Given the description of an element on the screen output the (x, y) to click on. 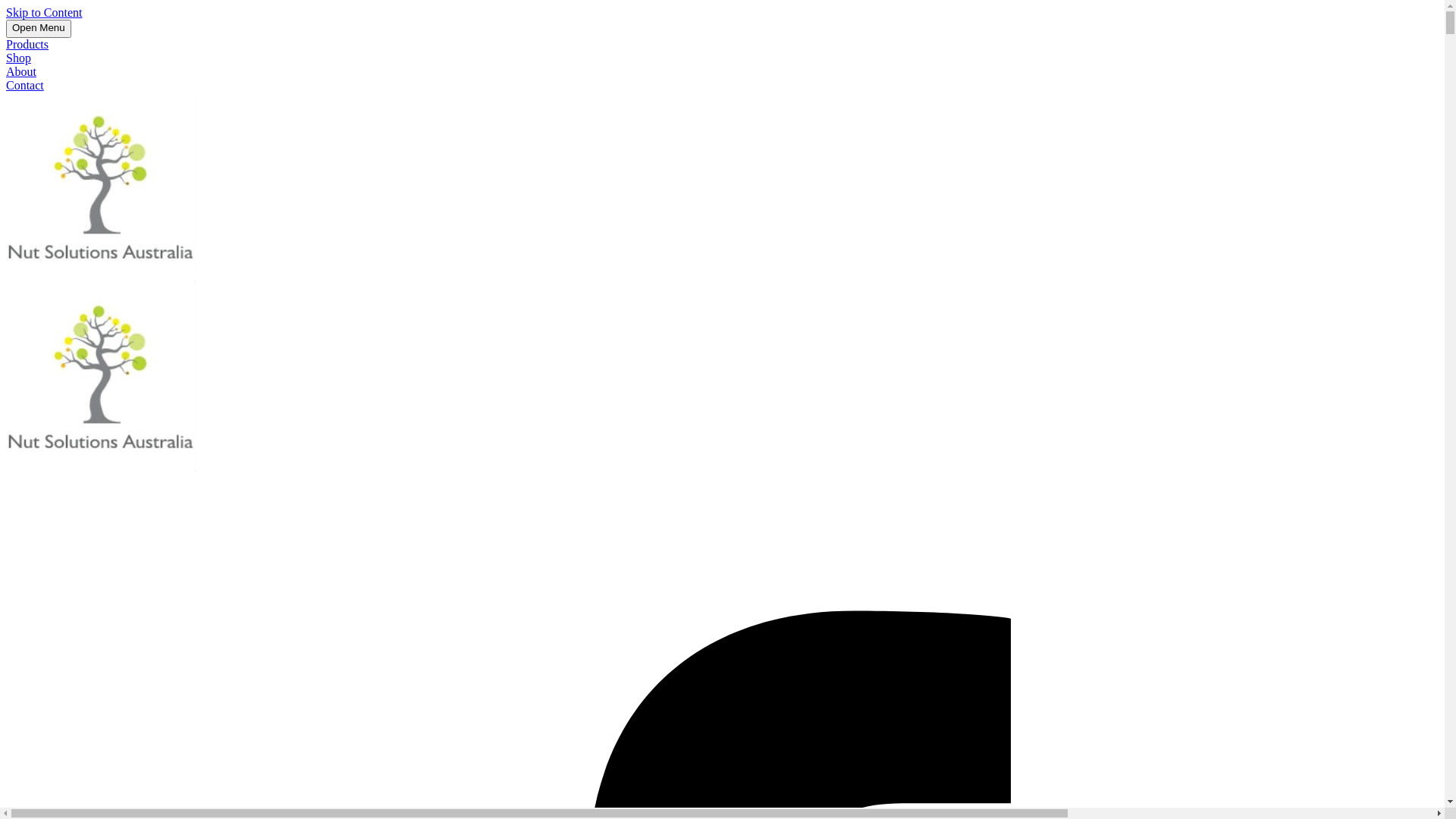
Open Menu Element type: text (38, 28)
Skip to Content Element type: text (43, 12)
Products Element type: text (27, 43)
About Element type: text (21, 71)
Contact Element type: text (24, 84)
Shop Element type: text (18, 57)
